Given the description of an element on the screen output the (x, y) to click on. 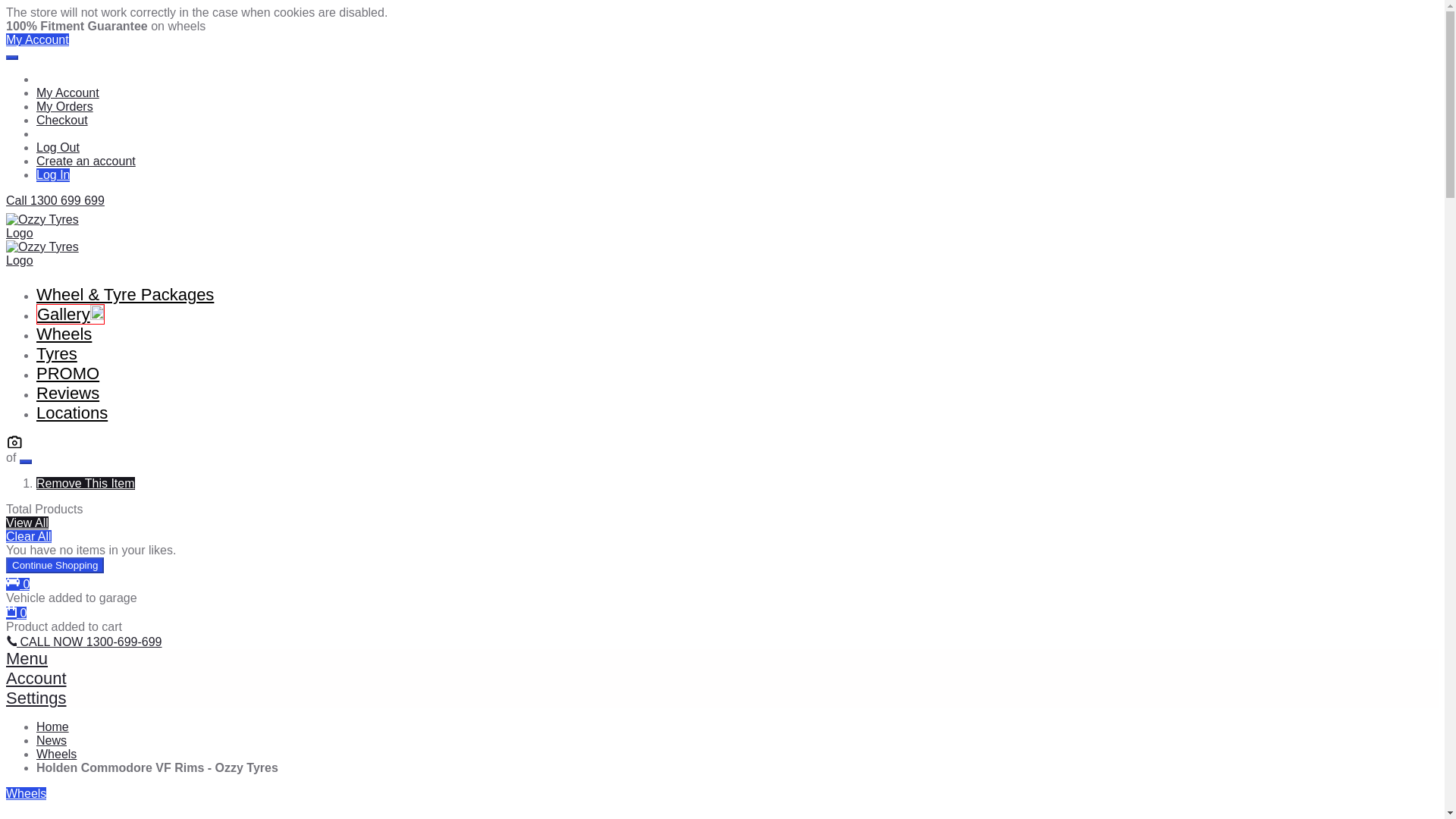
My Account (67, 92)
Wheels (25, 793)
Call 1300 699 699 (54, 200)
Reviews (67, 393)
News (51, 739)
Ozzy Tyres Logo (52, 246)
Wheels (56, 753)
Locations (71, 412)
Log Out (58, 146)
Ozzy Tyres Logo (52, 226)
